Given the description of an element on the screen output the (x, y) to click on. 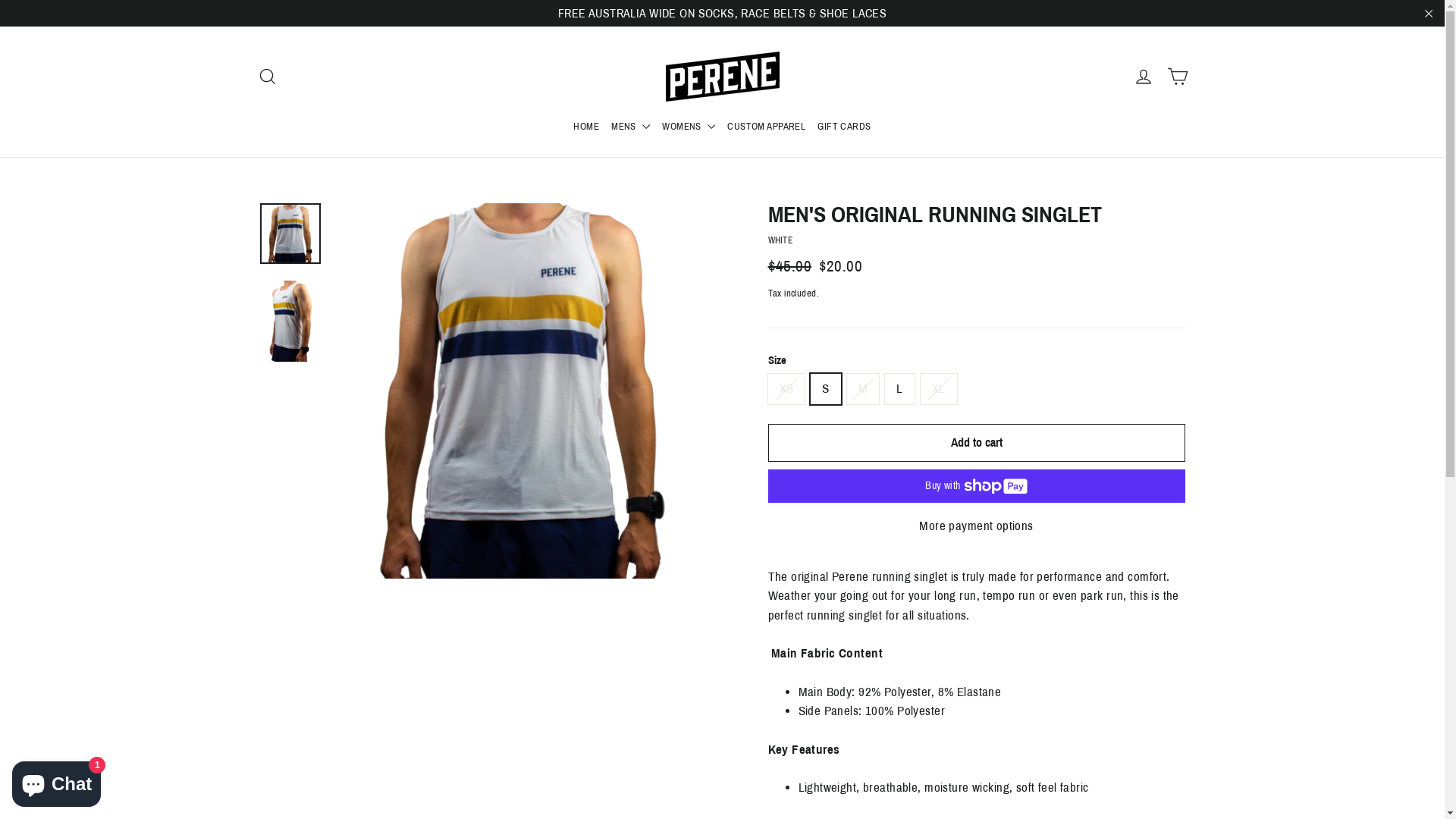
More payment options Element type: text (975, 525)
"Close" Element type: text (1428, 13)
MENS Element type: text (630, 127)
Log in Element type: text (1143, 76)
HOME Element type: text (586, 127)
Shopify online store chat Element type: hover (56, 780)
Search Element type: text (266, 76)
Add to cart Element type: text (975, 442)
WOMENS Element type: text (688, 127)
Skip to content Element type: text (0, 0)
GIFT CARDS Element type: text (843, 127)
WHITE Element type: text (780, 240)
CUSTOM APPAREL Element type: text (766, 127)
Cart Element type: text (1176, 76)
